Given the description of an element on the screen output the (x, y) to click on. 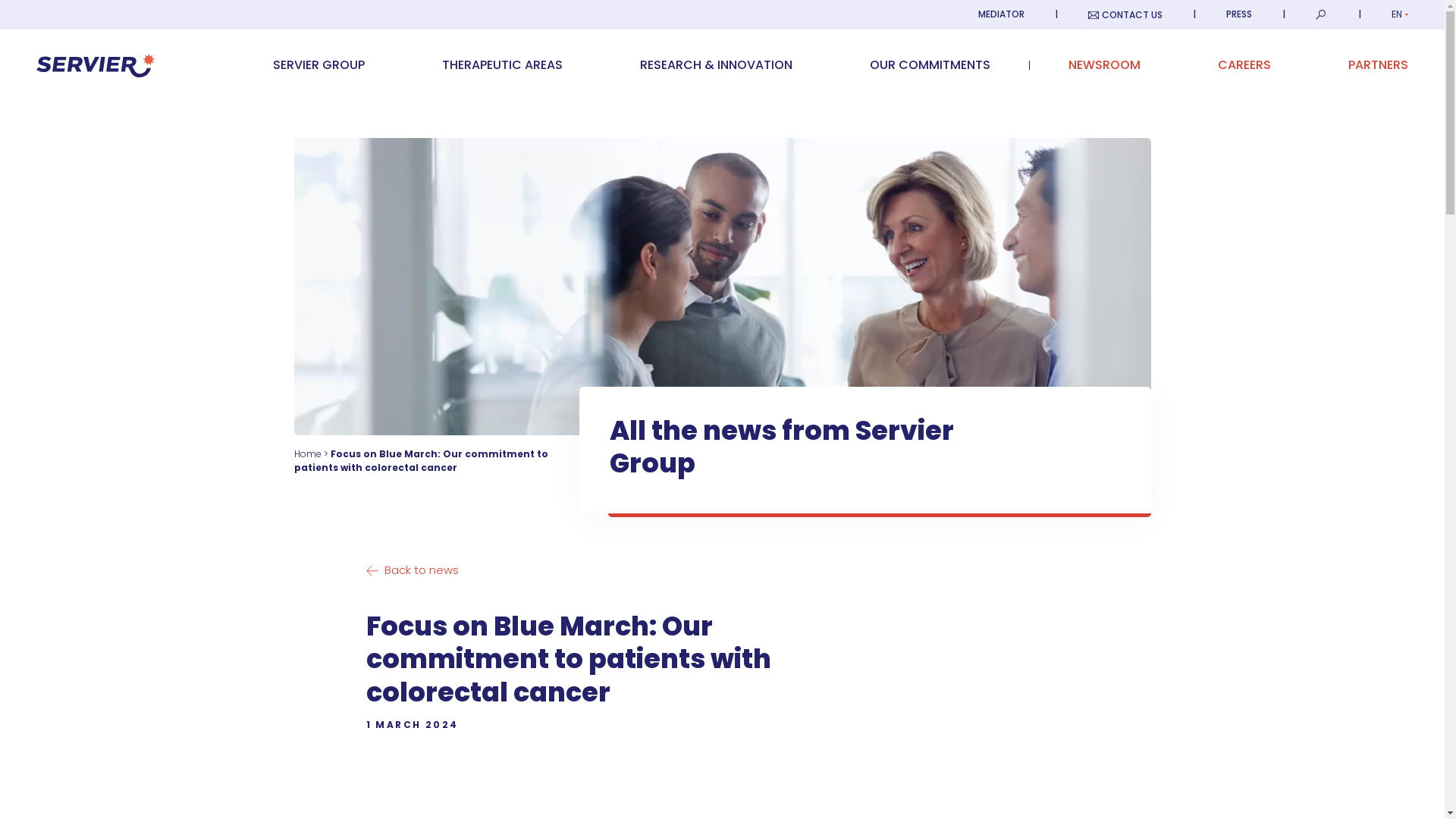
MEDIATOR (1001, 13)
PRESS (1238, 13)
CONTACT US (1124, 13)
Discover the Servier Group (319, 64)
EN (1399, 14)
SERVIER GROUP (319, 64)
THERAPEUTIC AREAS (502, 64)
